Given the description of an element on the screen output the (x, y) to click on. 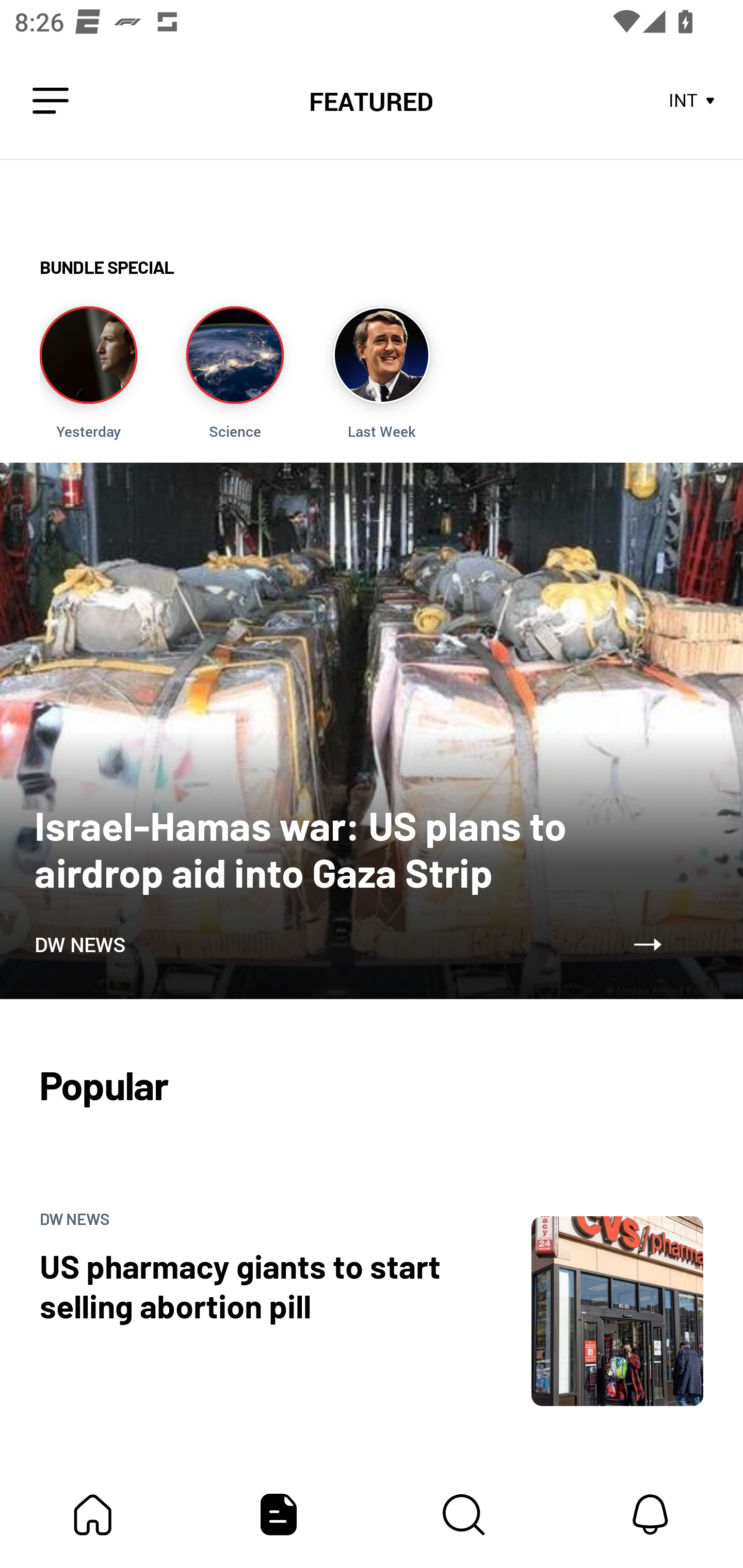
Leading Icon (50, 101)
INT Store Area (692, 101)
Story Image Yesterday (88, 372)
Story Image Science (234, 372)
Story Image Last Week (381, 372)
My Bundle (92, 1514)
Content Store (464, 1514)
Notifications (650, 1514)
